Given the description of an element on the screen output the (x, y) to click on. 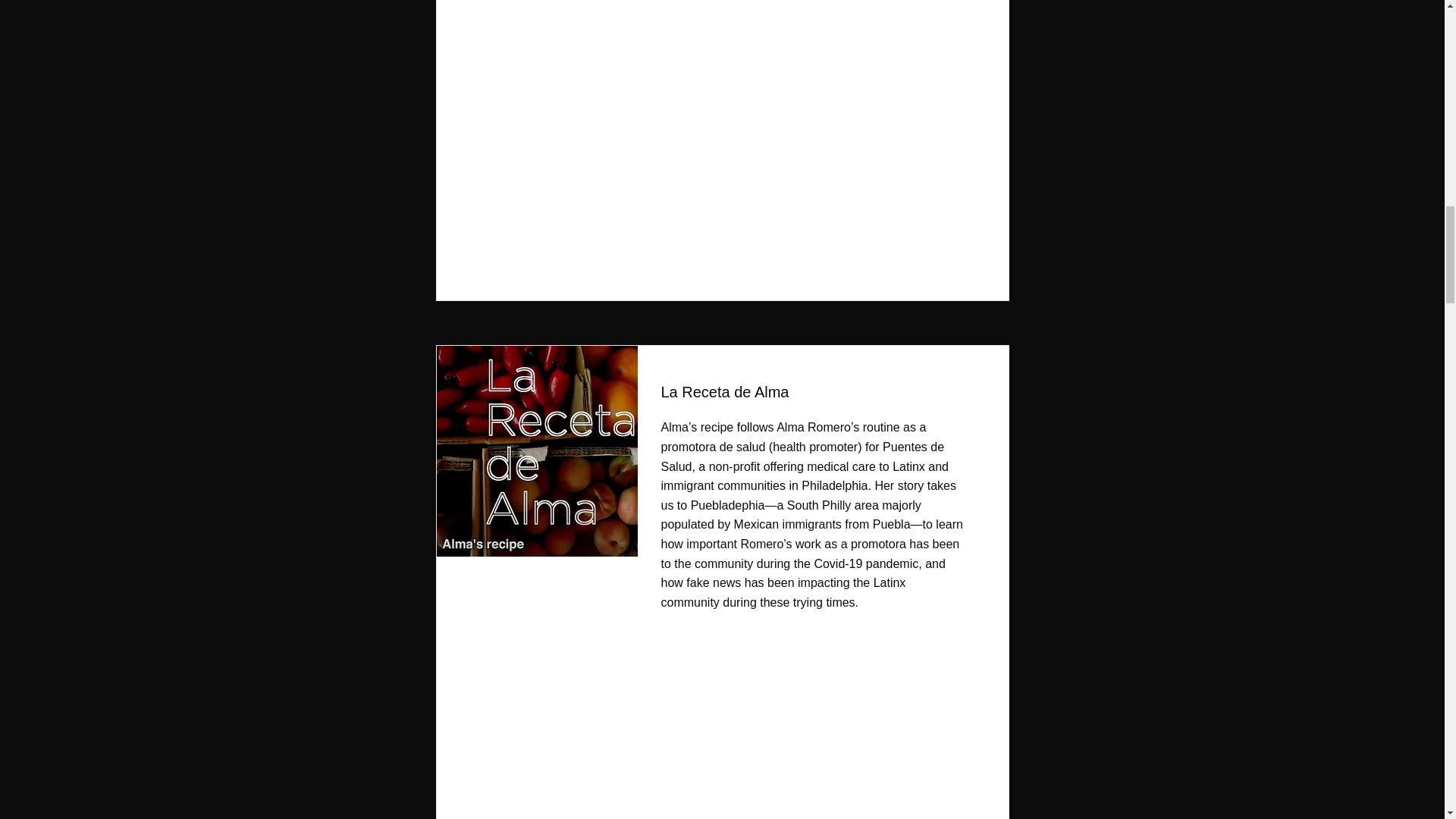
Alma's Recipe title.JPG (531, 450)
